Given the description of an element on the screen output the (x, y) to click on. 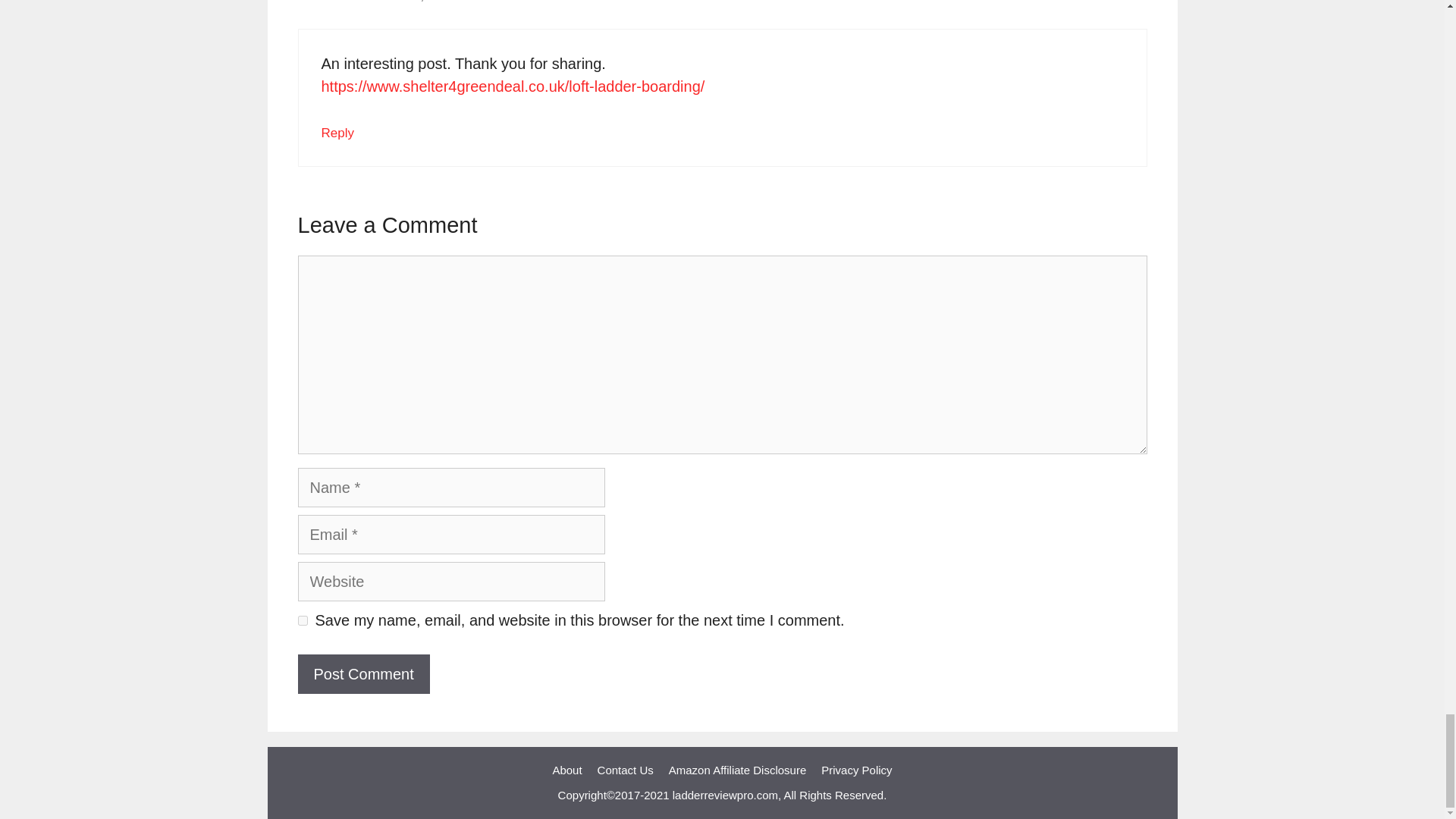
yes (302, 620)
December 21, 2021 at 4:52 am (430, 1)
Post Comment (363, 673)
Reply (337, 133)
